Given the description of an element on the screen output the (x, y) to click on. 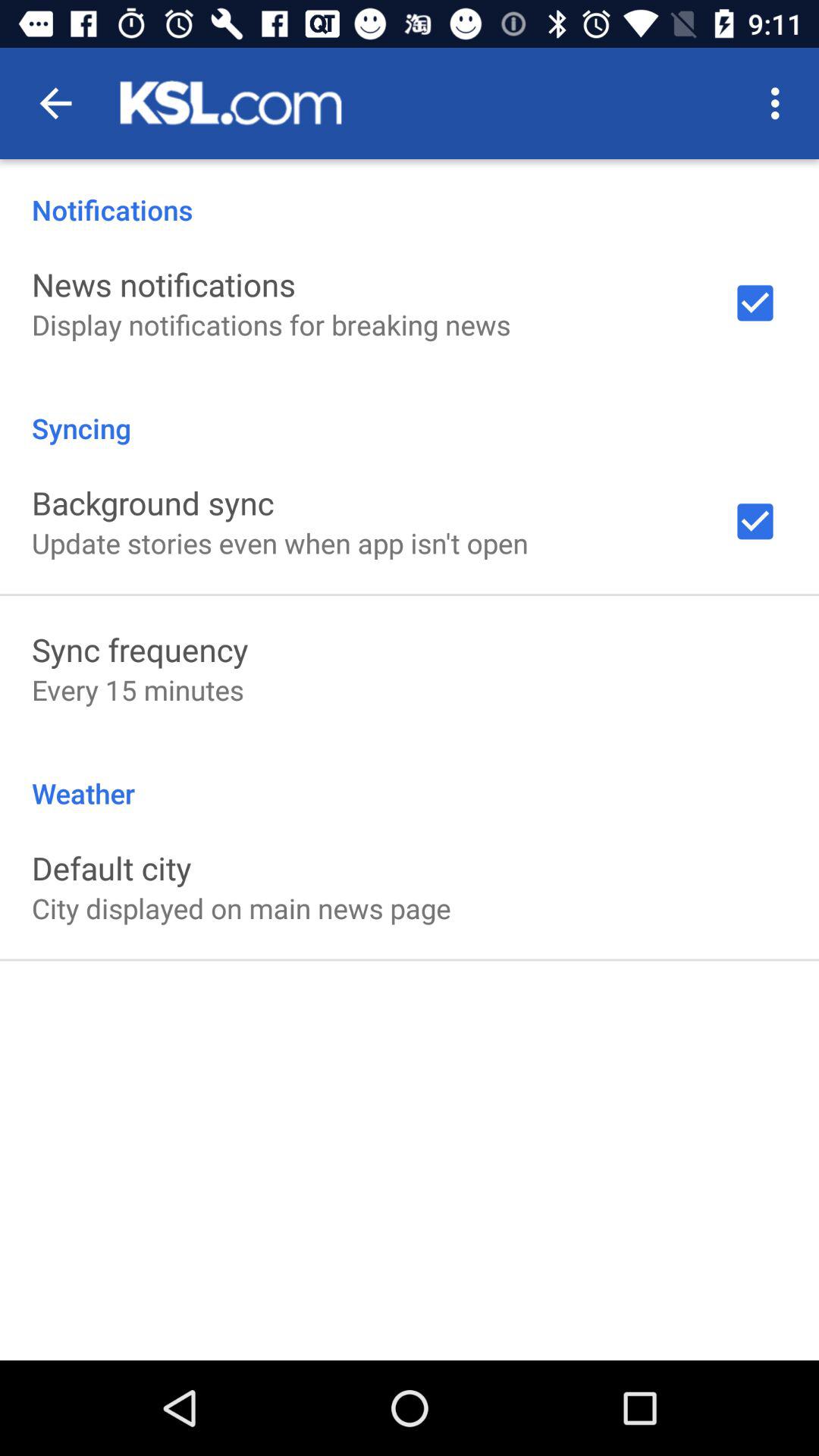
scroll to the every 15 minutes icon (137, 689)
